Given the description of an element on the screen output the (x, y) to click on. 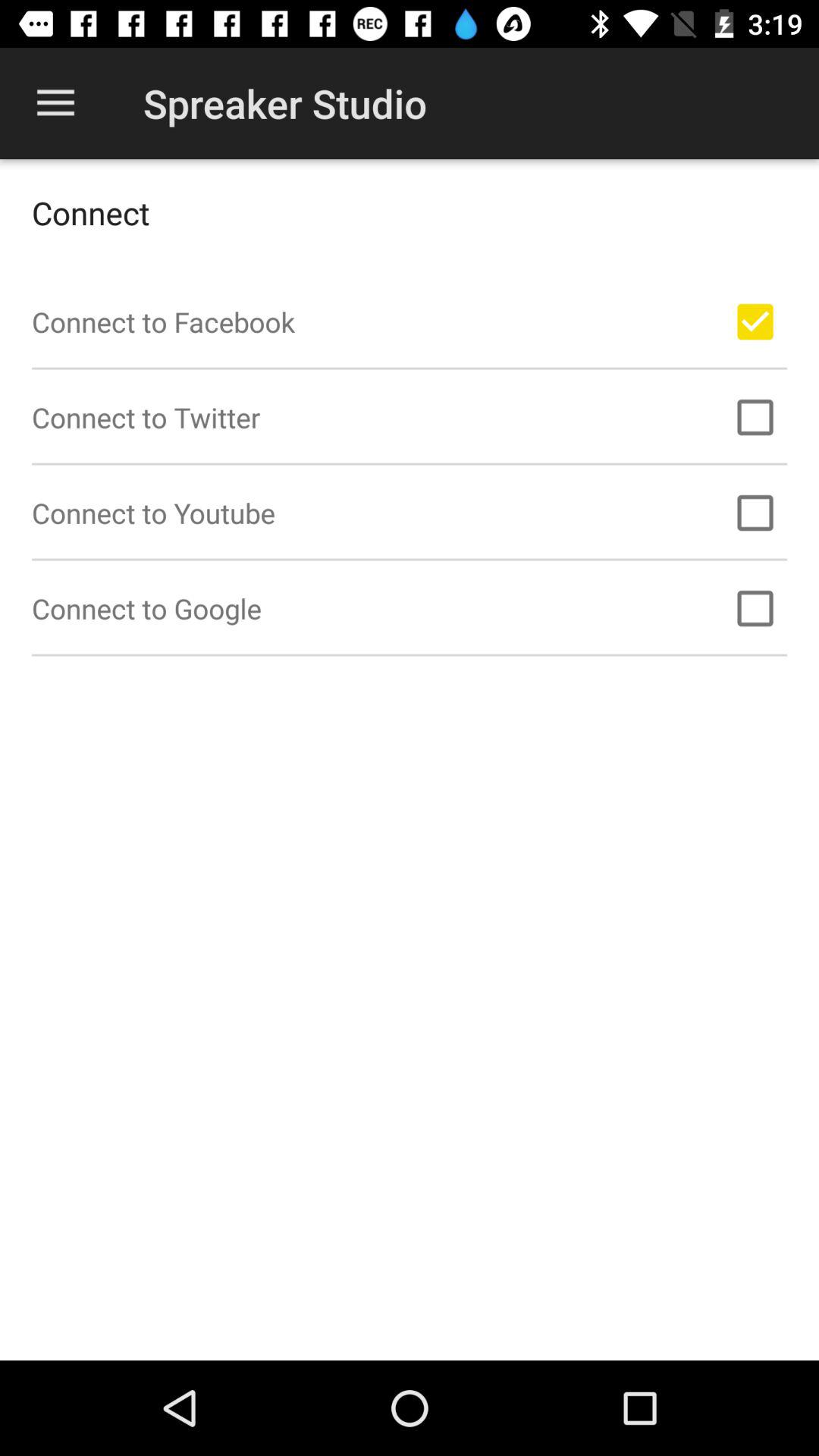
toggle option (755, 321)
